Given the description of an element on the screen output the (x, y) to click on. 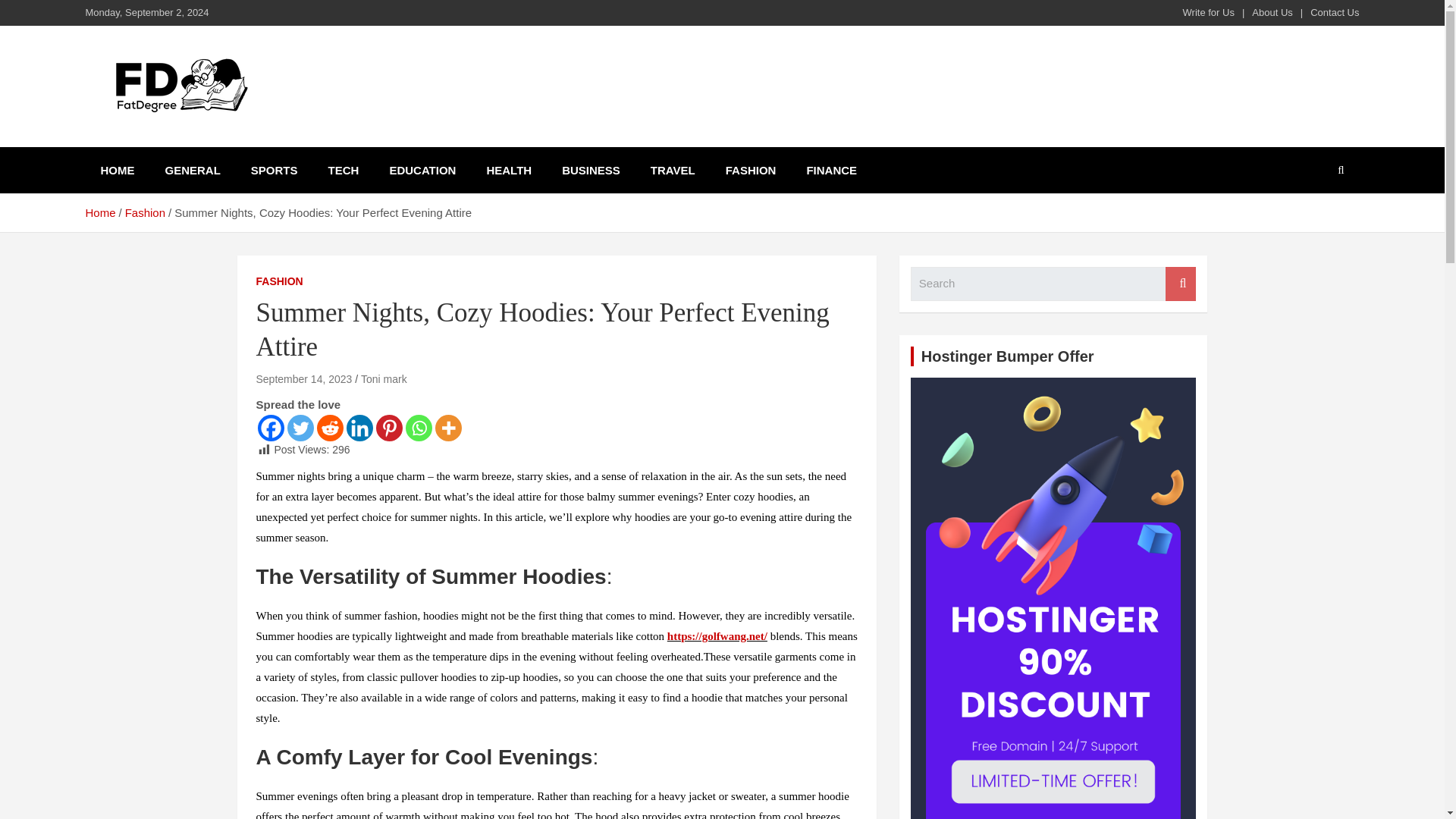
September 14, 2023 (304, 378)
Fat Degree (162, 143)
TECH (343, 170)
FASHION (279, 281)
Summer Nights, Cozy Hoodies: Your Perfect Evening Attire (304, 378)
Toni mark (384, 378)
FASHION (751, 170)
Home (99, 212)
Whatsapp (417, 427)
Search (1180, 283)
